Given the description of an element on the screen output the (x, y) to click on. 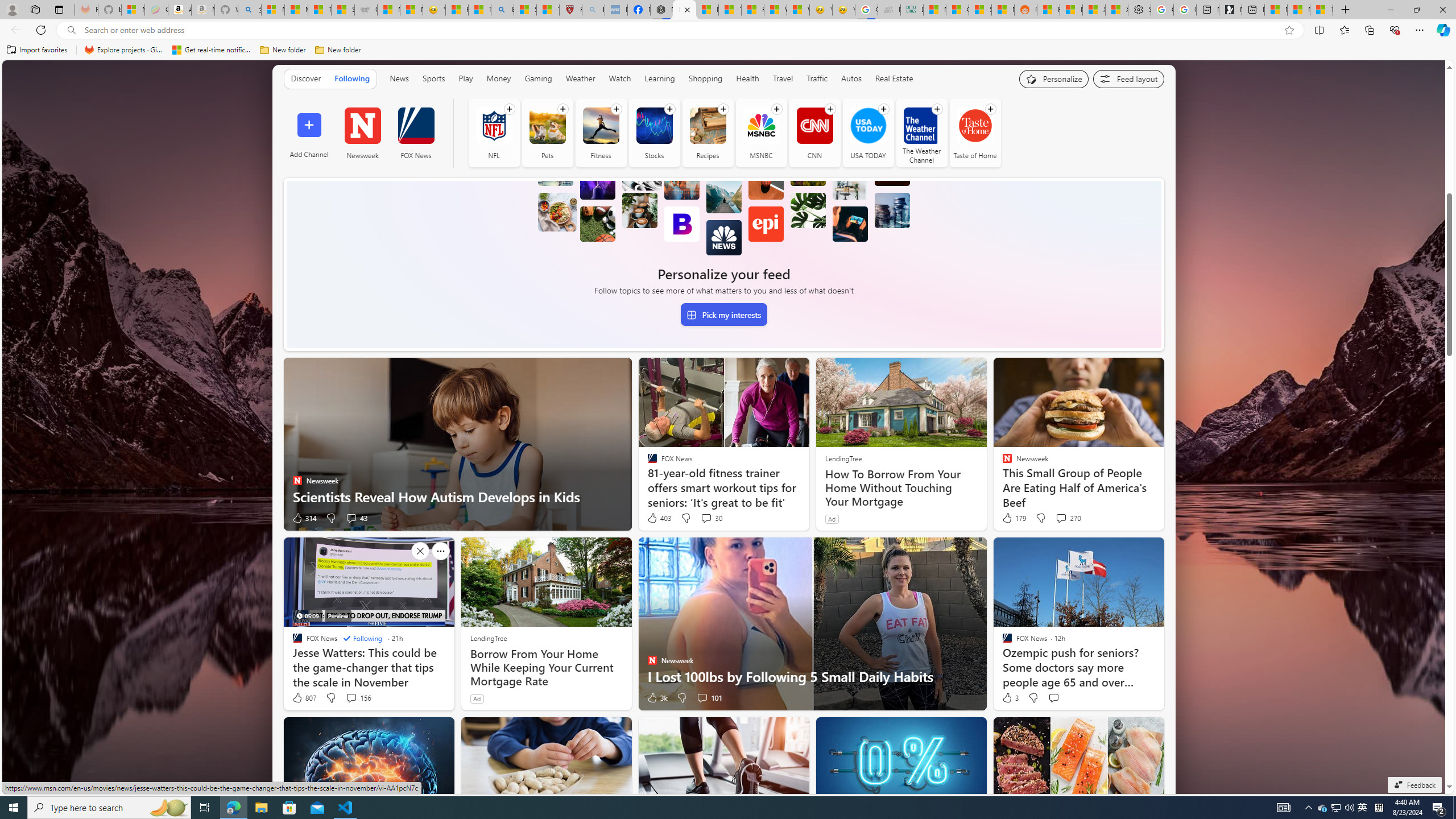
3k Like (656, 697)
Import favorites (36, 49)
314 Like (303, 517)
View comments 270 Comment (1067, 517)
